Given the description of an element on the screen output the (x, y) to click on. 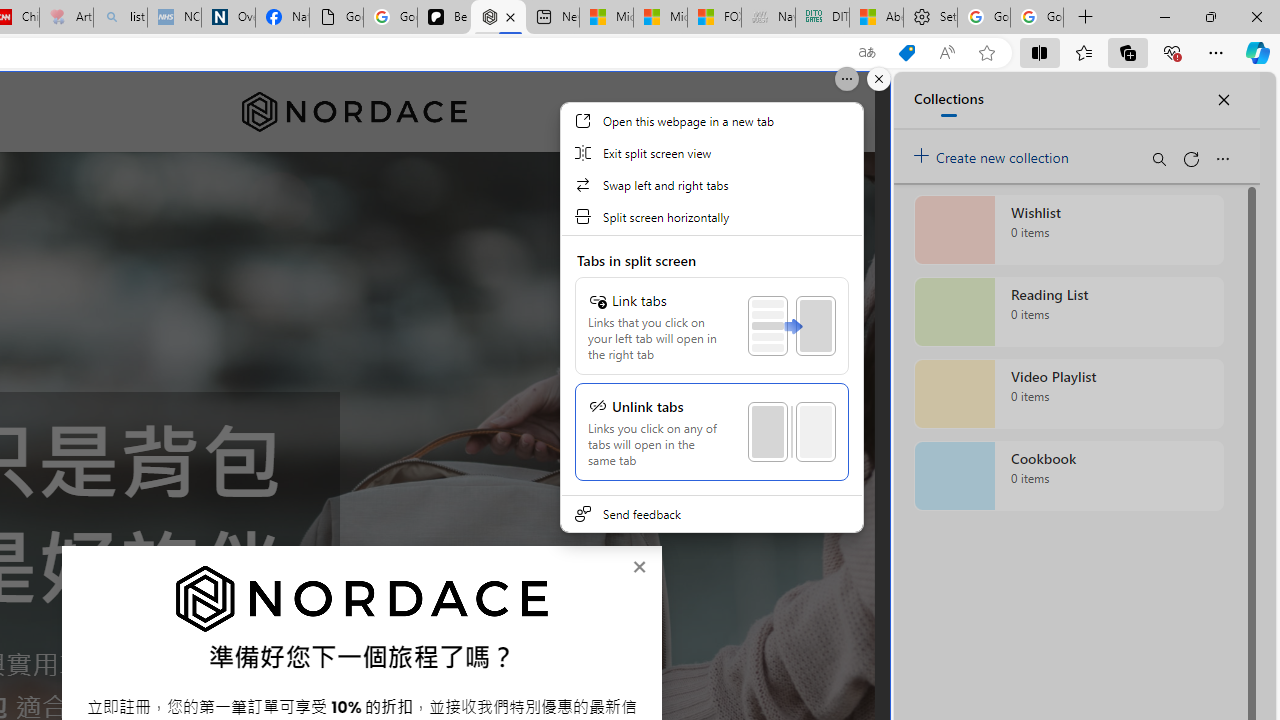
Show translate options (867, 53)
Send feedback (711, 513)
Class: SplitWindowMenuLinkPanelView (711, 365)
Aberdeen, Hong Kong SAR hourly forecast | Microsoft Weather (875, 17)
Navy Quest (768, 17)
